Given the description of an element on the screen output the (x, y) to click on. 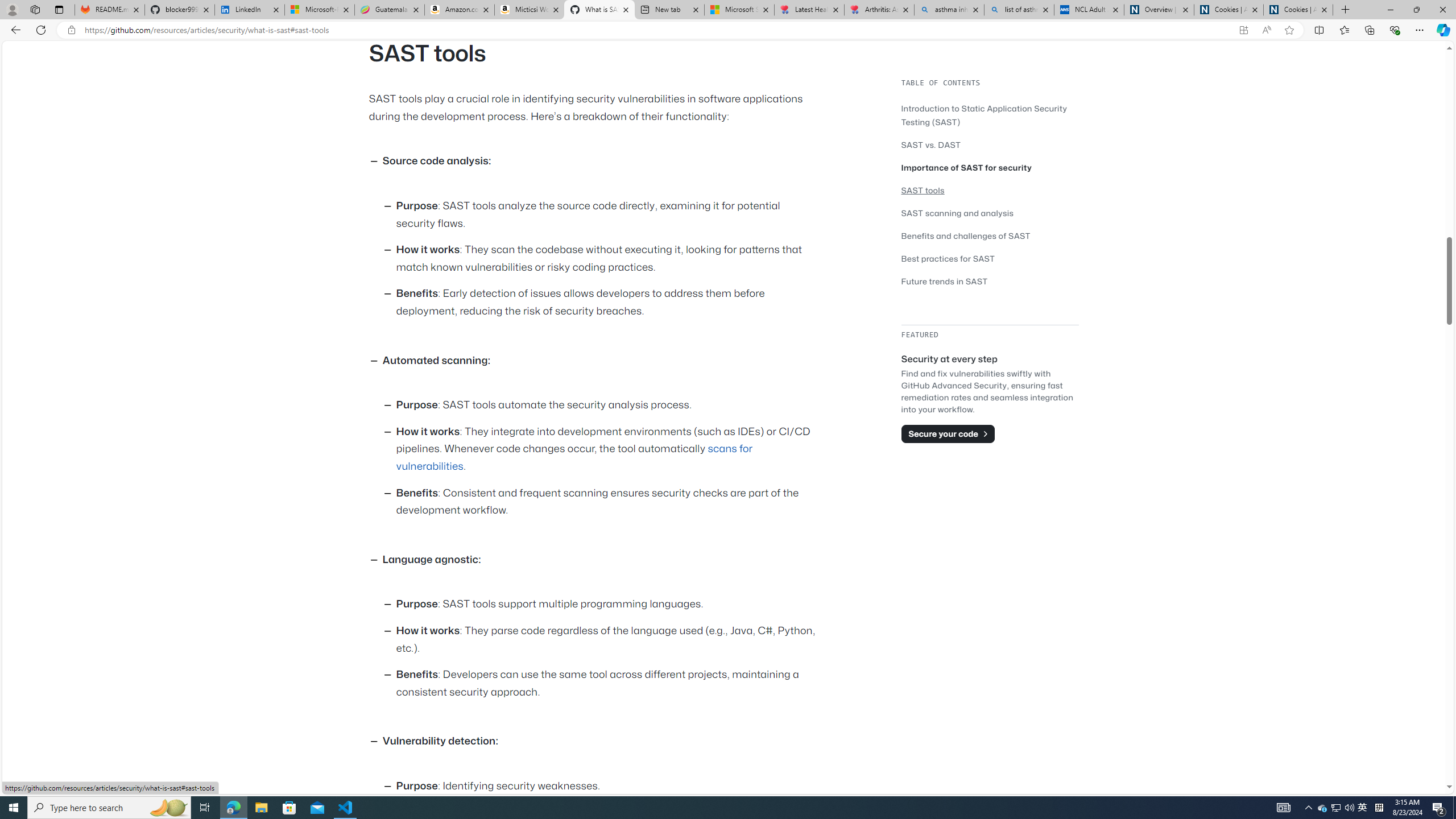
Purpose: SAST tools support multiple programming languages. (608, 604)
SAST tools (922, 189)
NCL Adult Asthma Inhaler Choice Guideline (1088, 9)
